Given the description of an element on the screen output the (x, y) to click on. 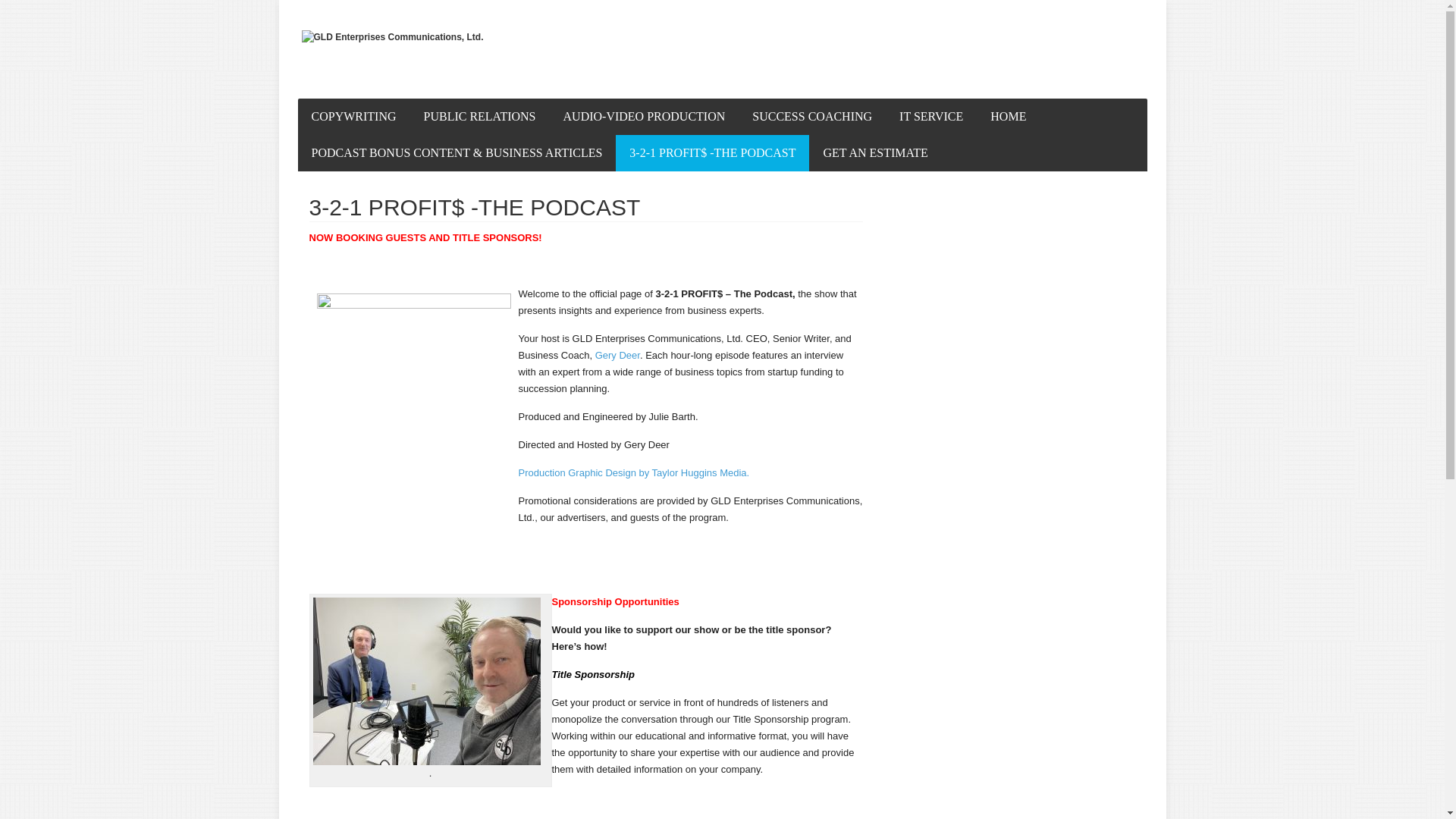
GLD Enterprises Communications, Ltd. Element type: hover (392, 37)
Production Graphic Design by Taylor Huggins Media. Element type: text (633, 472)
SUCCESS COACHING Element type: text (811, 116)
HOME Element type: text (1007, 116)
Gery Deer Element type: text (617, 354)
AUDIO-VIDEO PRODUCTION Element type: text (644, 116)
3-2-1 PROFIT$ -THE PODCAST Element type: text (712, 152)
PODCAST BONUS CONTENT & BUSINESS ARTICLES Element type: text (456, 152)
COPYWRITING Element type: text (353, 116)
GET AN ESTIMATE Element type: text (875, 152)
IT SERVICE Element type: text (930, 116)
PUBLIC RELATIONS Element type: text (479, 116)
